Given the description of an element on the screen output the (x, y) to click on. 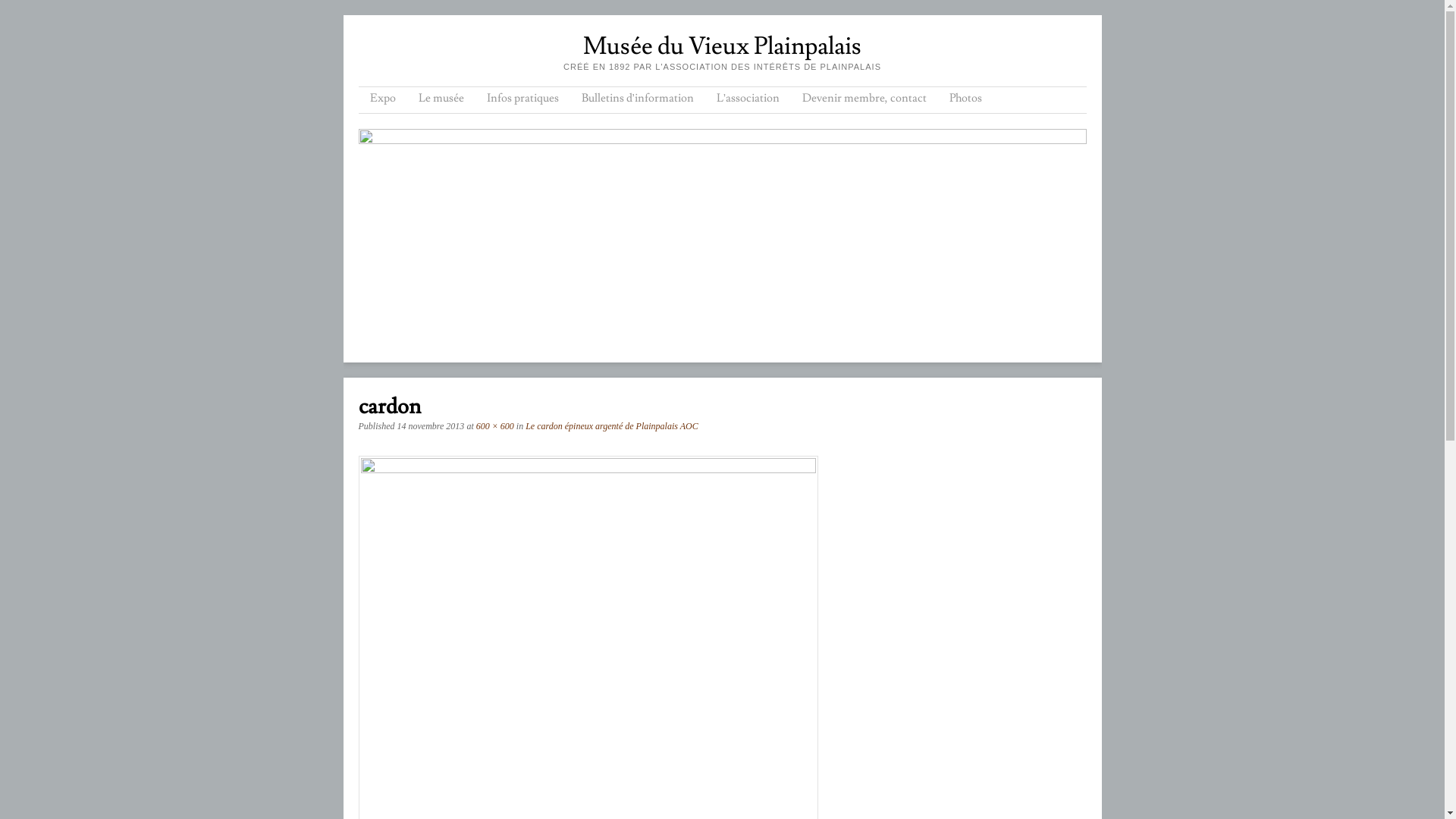
Infos pratiques Element type: text (521, 99)
cardon Element type: hover (587, 469)
Photos Element type: text (965, 99)
Devenir membre, contact Element type: text (864, 99)
Expo Element type: text (381, 99)
Skip to content Element type: text (405, 99)
